Given the description of an element on the screen output the (x, y) to click on. 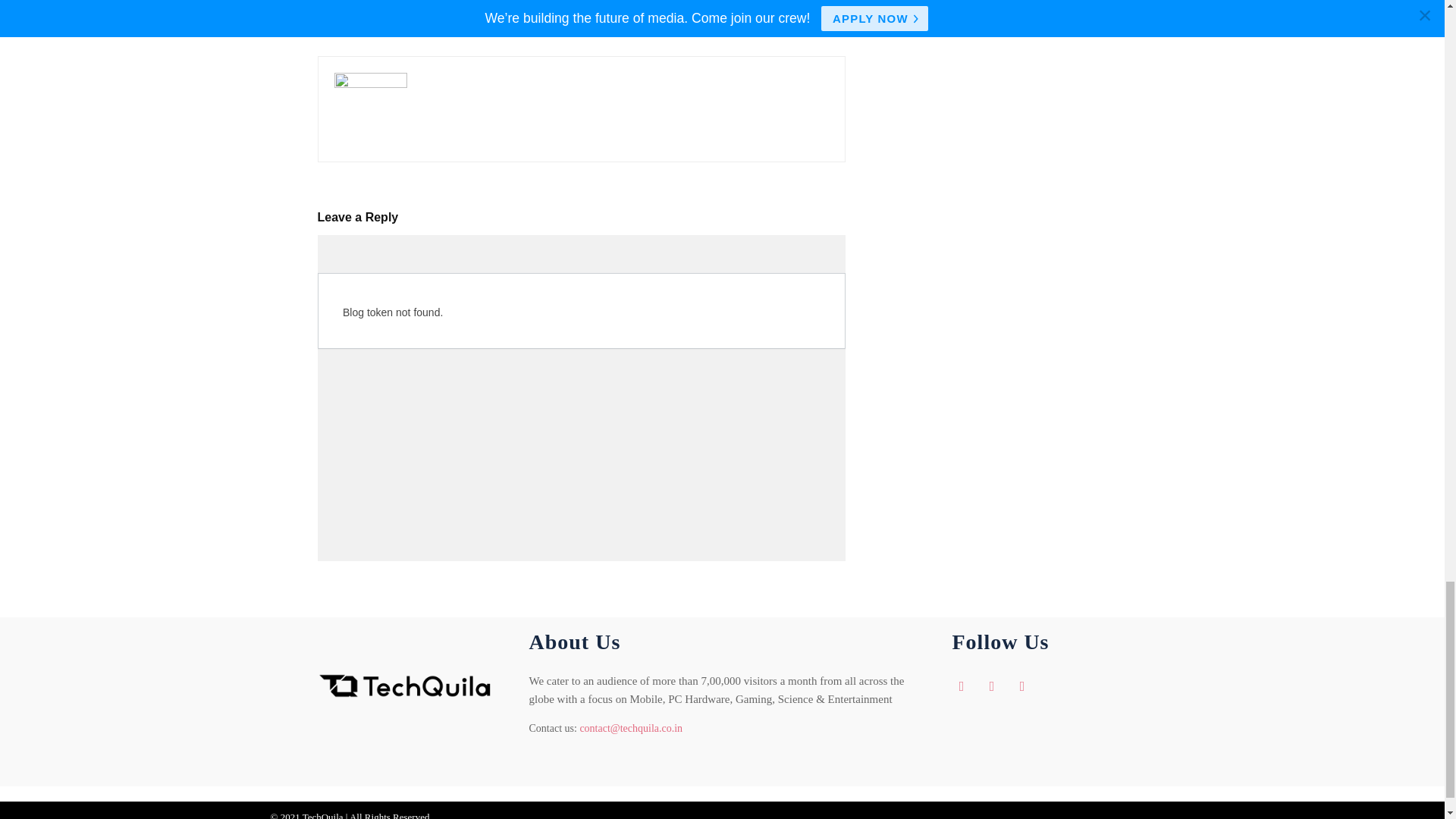
Storm on Neptune Changes its Direction, Astronomers Confused (439, 11)
